Given the description of an element on the screen output the (x, y) to click on. 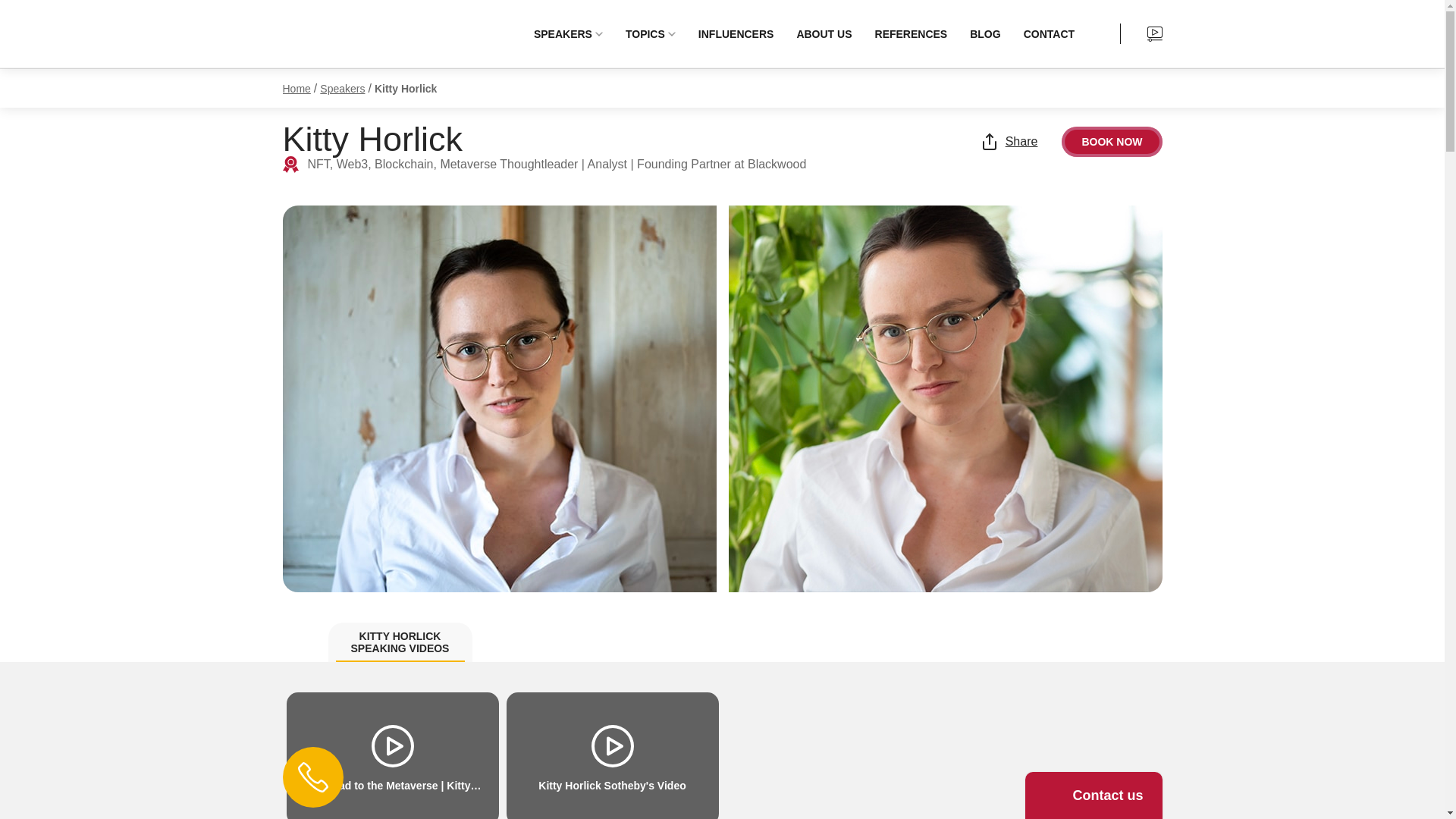
Kitty Horlick Sotheby's Video (612, 755)
ABOUT US (824, 33)
SPEAKERS (567, 33)
REFERENCES (911, 33)
INFLUENCERS (735, 33)
CONTACT (1048, 33)
TOPICS (649, 33)
